Given the description of an element on the screen output the (x, y) to click on. 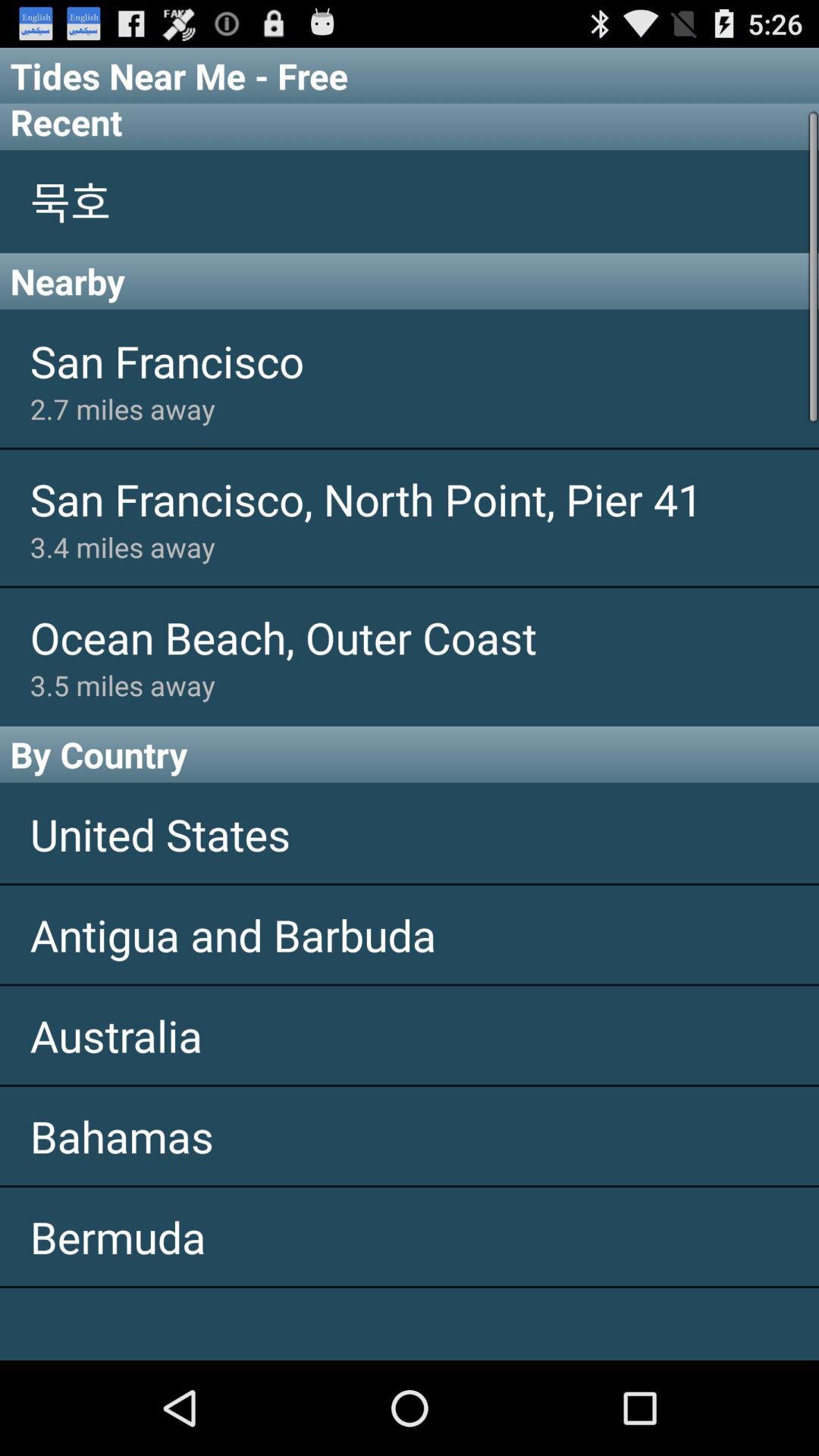
tap the item above the bermuda item (409, 1135)
